Given the description of an element on the screen output the (x, y) to click on. 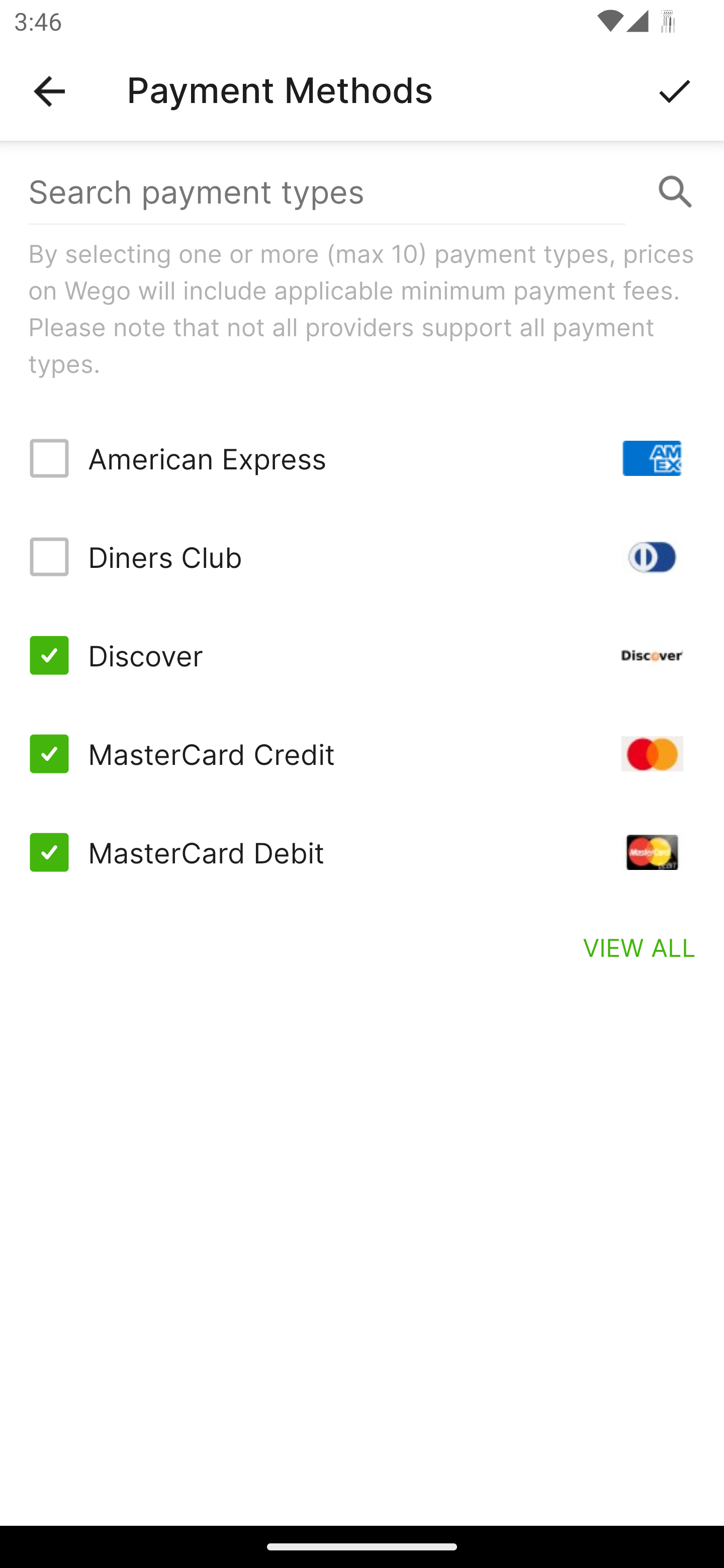
Search payment types  (361, 191)
American Express (362, 458)
Diners Club (362, 557)
Discover (362, 655)
MasterCard Credit (362, 753)
MasterCard Debit (362, 851)
VIEW ALL (639, 946)
